Given the description of an element on the screen output the (x, y) to click on. 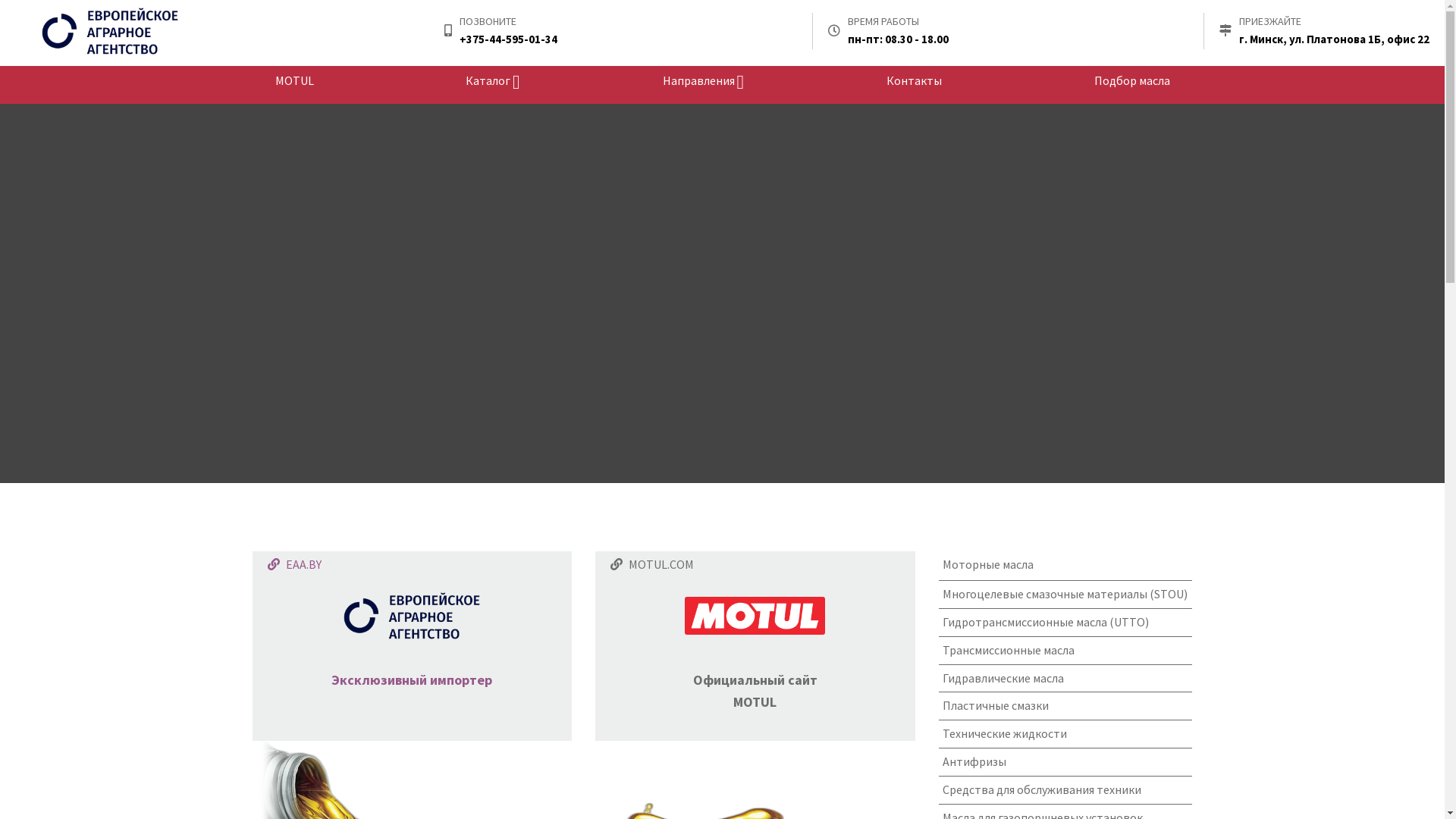
+375-44-595-01-34 Element type: text (508, 38)
MOTUL Element type: text (293, 81)
